Given the description of an element on the screen output the (x, y) to click on. 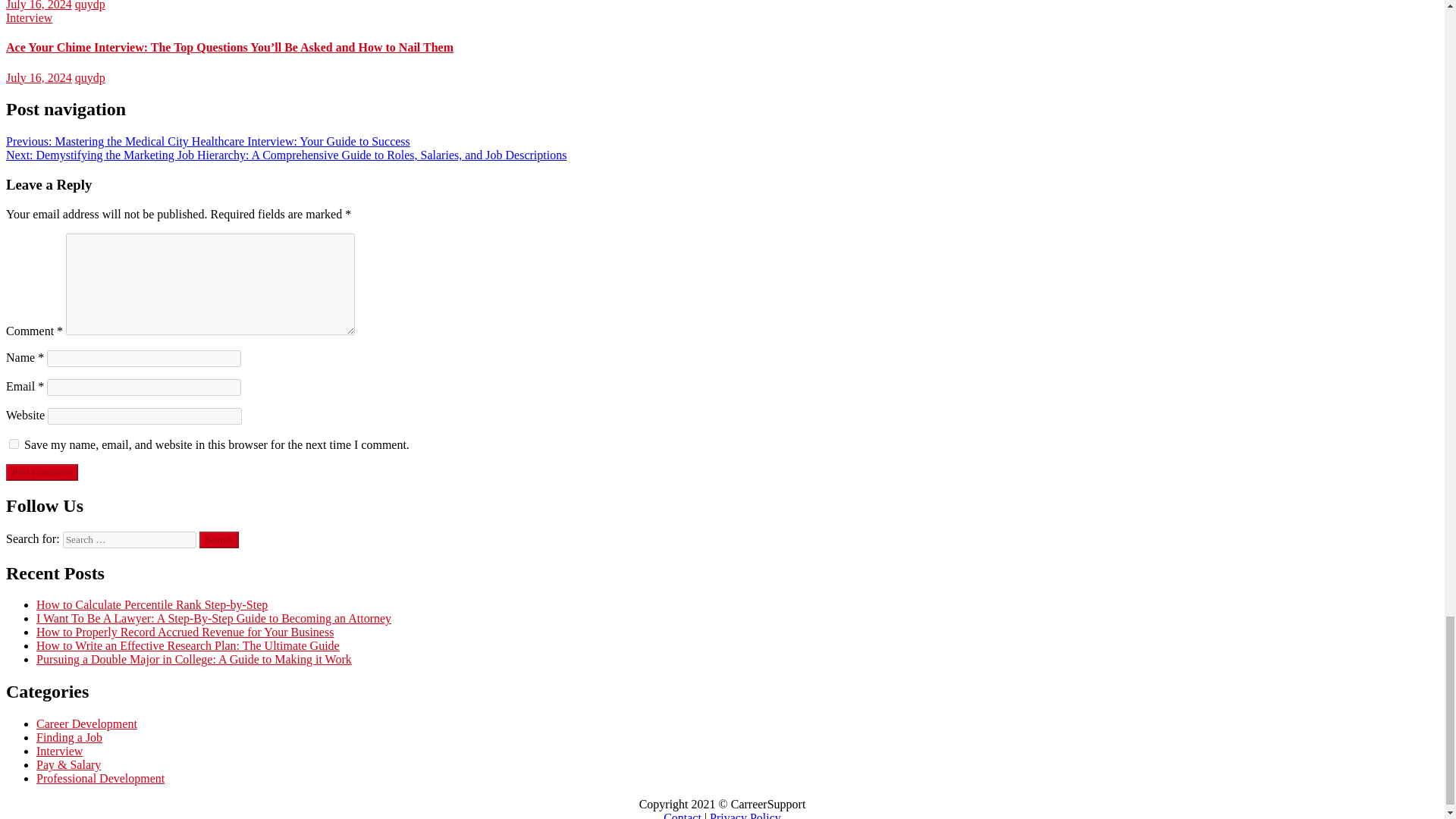
yes (13, 443)
quydp (89, 5)
quydp (89, 77)
Search (218, 539)
July 16, 2024 (38, 5)
July 16, 2024 (38, 77)
Post Comment (41, 472)
Interview (28, 17)
